Given the description of an element on the screen output the (x, y) to click on. 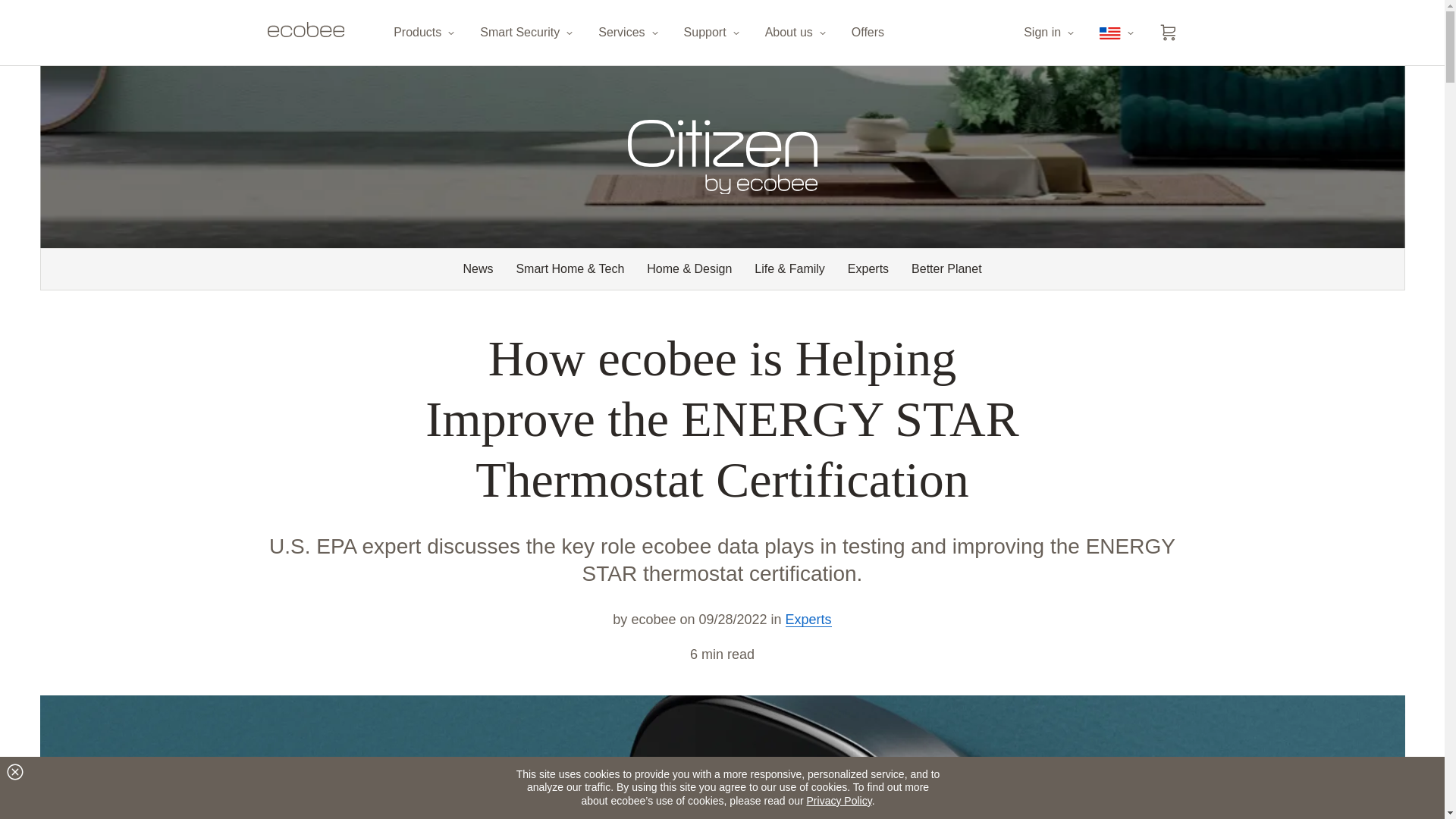
Browse by category (722, 269)
Products (424, 32)
go to home page (304, 32)
Smart Security (527, 32)
Support (713, 32)
Services (628, 32)
About us (797, 32)
ecobee logo (304, 32)
ecobee logo (304, 29)
